Given the description of an element on the screen output the (x, y) to click on. 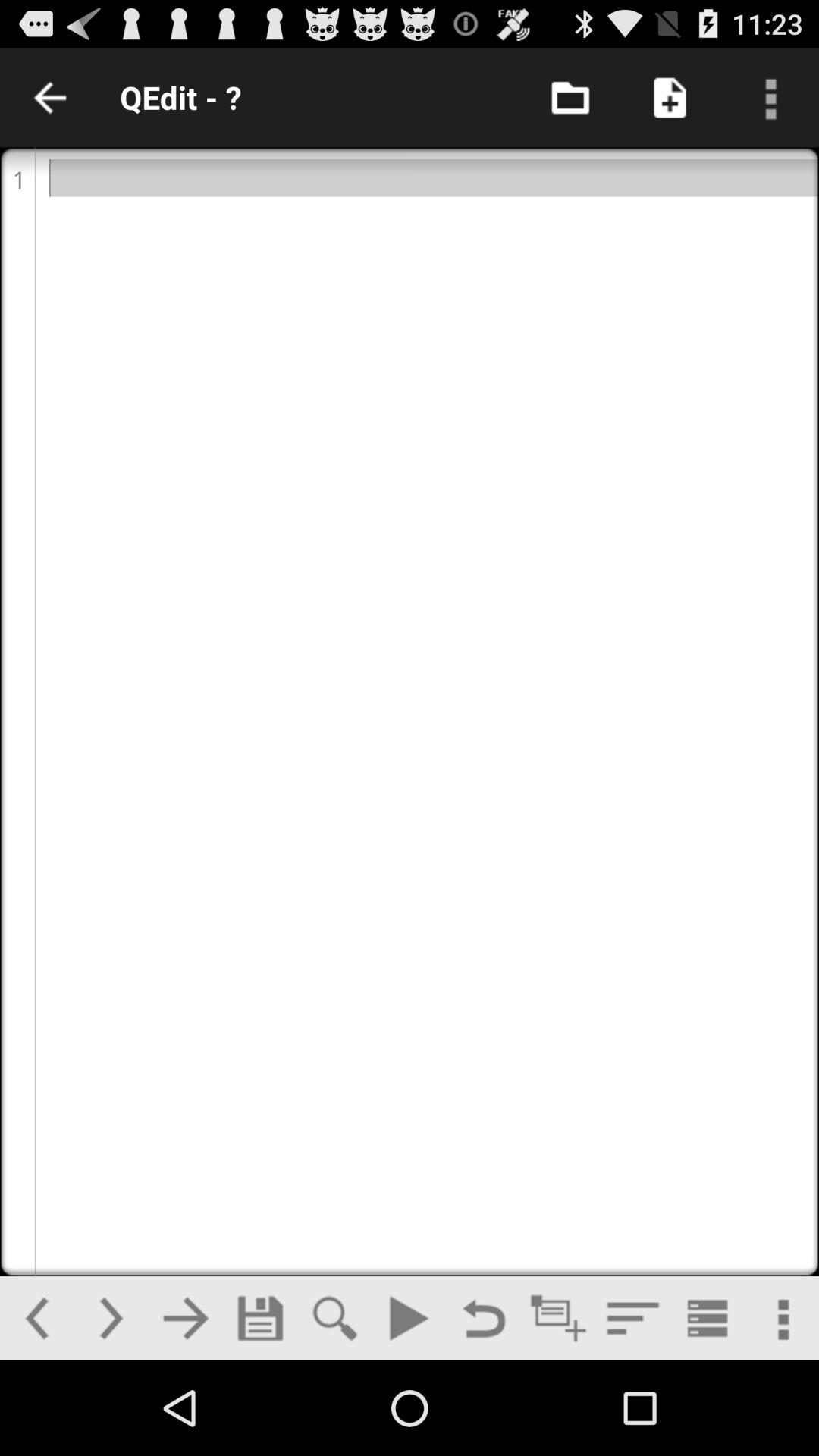
open text field (409, 711)
